Given the description of an element on the screen output the (x, y) to click on. 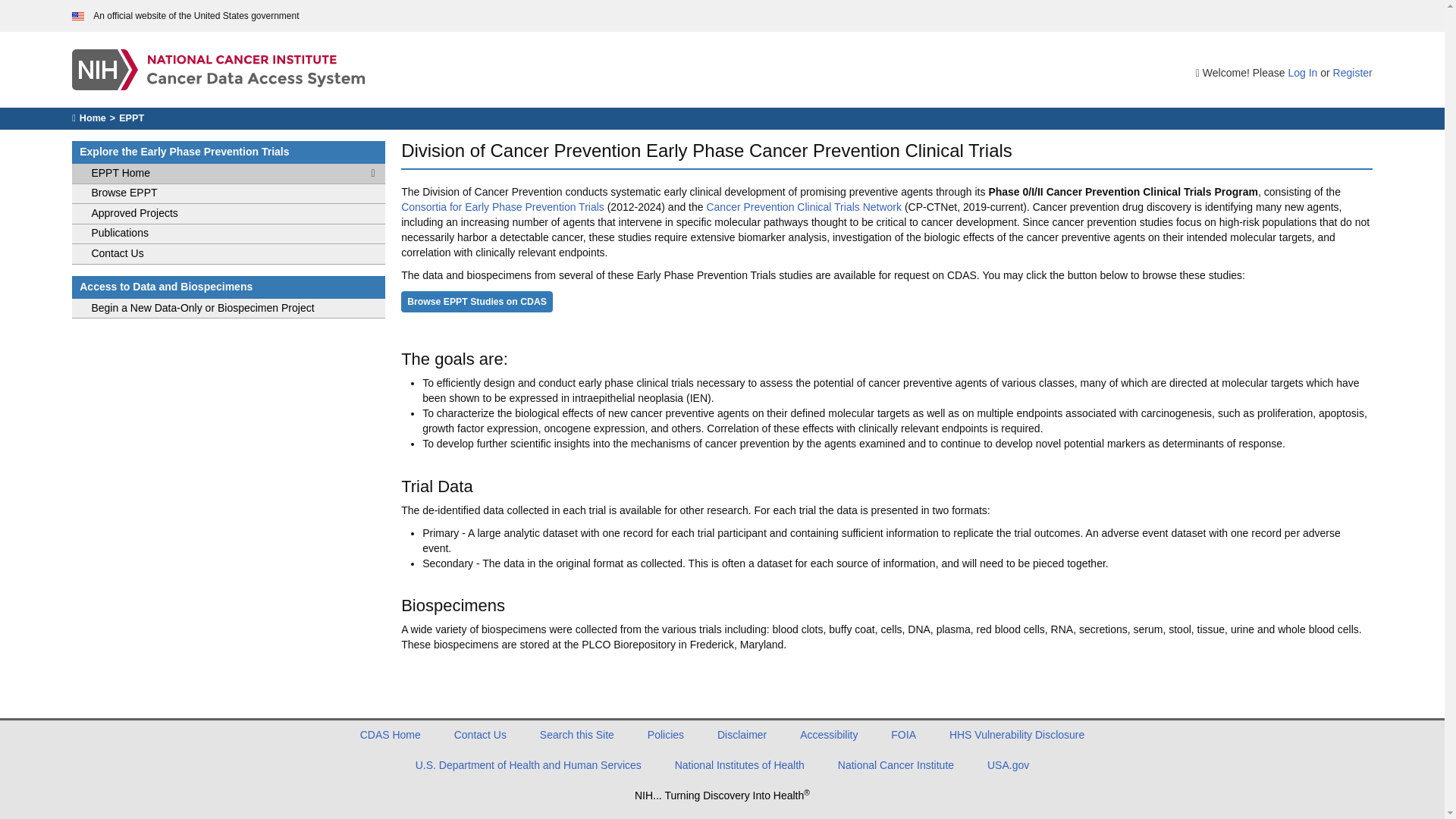
HHS Vulnerability Disclosure (1016, 734)
CDAS Home (389, 734)
Contact Us (228, 254)
U.S. Department of Health and Human Services (528, 765)
Publications (228, 234)
Browse EPPT Studies on CDAS (477, 301)
Consortia for Early Phase Prevention Trials (502, 206)
Policies (665, 734)
Approved Projects (228, 213)
National Cancer Institute (895, 765)
EPPT Home (228, 173)
Contact Us (480, 734)
Accessibility (828, 734)
Browse EPPT (228, 194)
Home (88, 118)
